Given the description of an element on the screen output the (x, y) to click on. 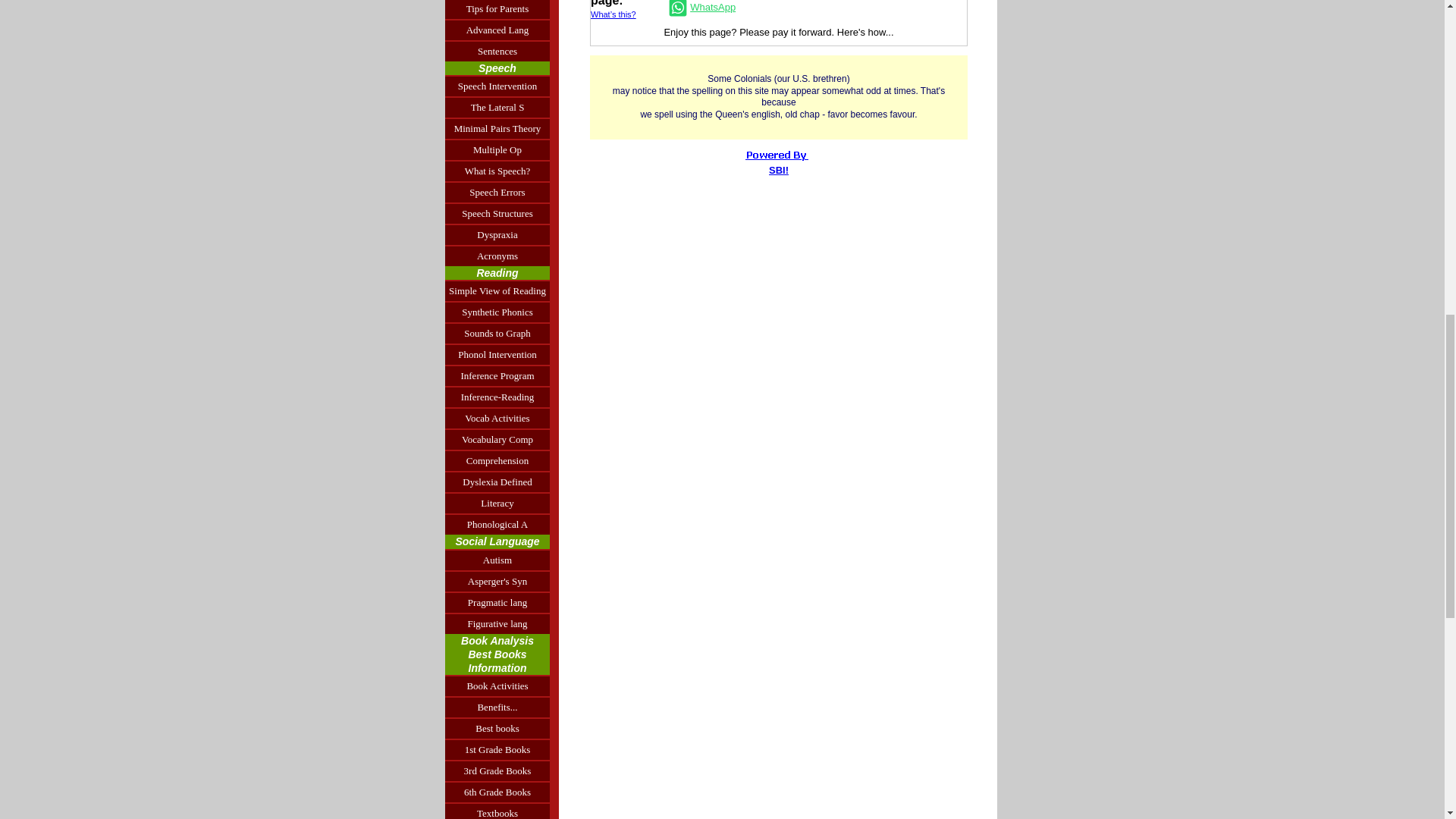
Tips for Parents (497, 9)
Advanced Lang (497, 29)
Multiple Op (497, 148)
Minimal Pairs Theory (497, 127)
The Lateral S (497, 106)
Sentences (497, 50)
What is Speech? (497, 169)
Speech Intervention (497, 85)
